Given the description of an element on the screen output the (x, y) to click on. 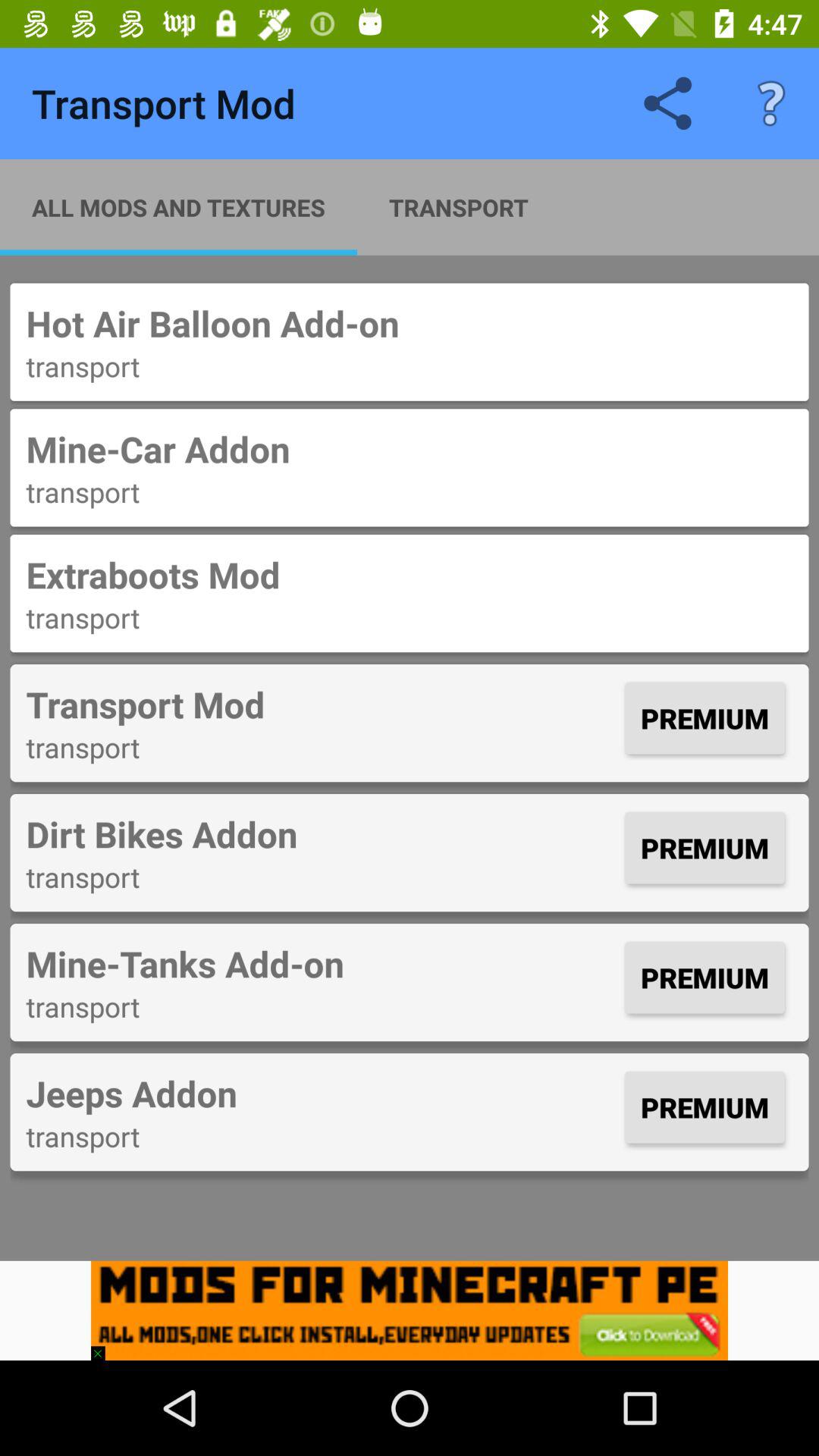
turn off the icon at the bottom left corner (105, 1346)
